Given the description of an element on the screen output the (x, y) to click on. 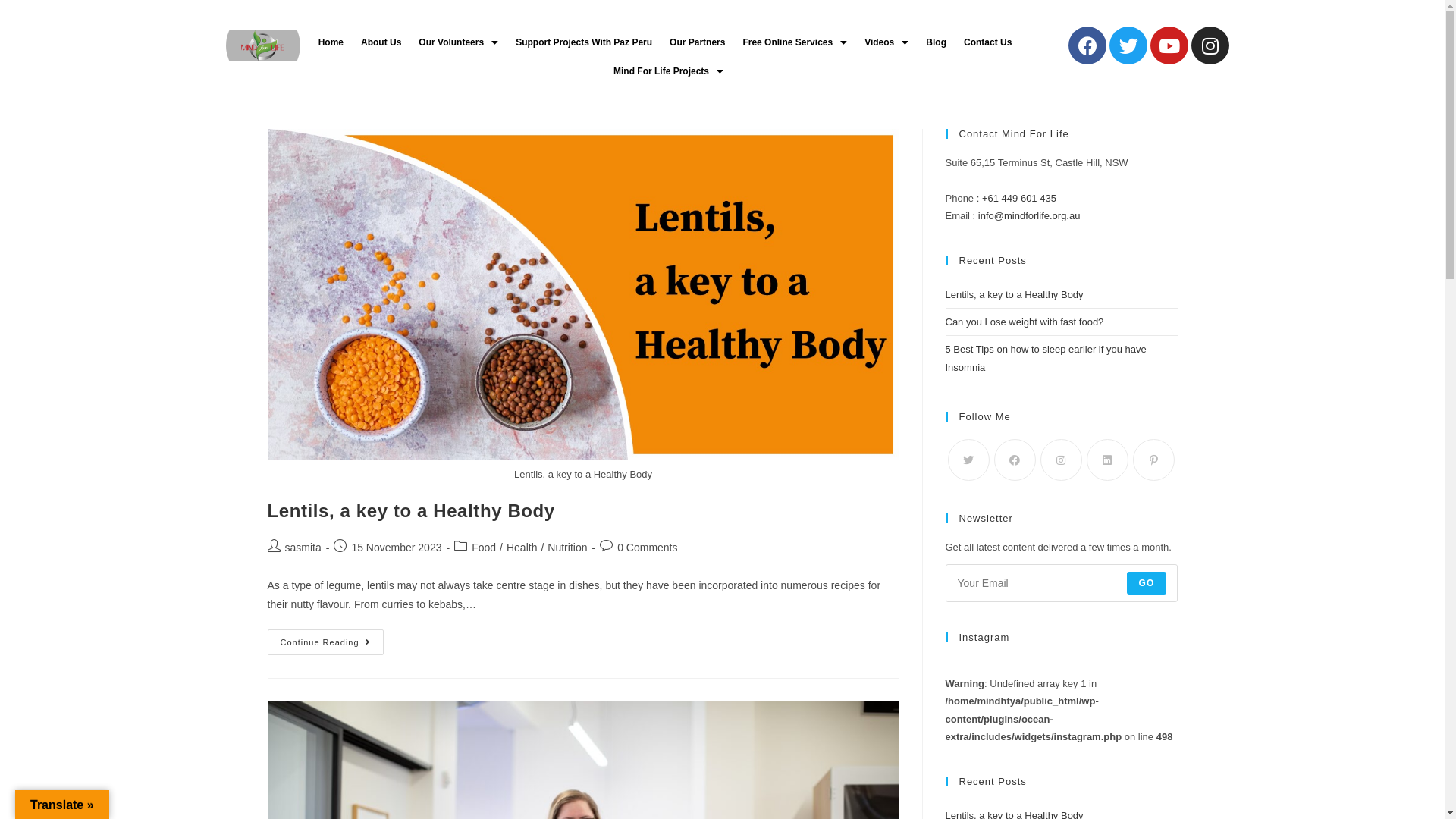
Free Online Services Element type: text (794, 42)
Food Element type: text (483, 547)
Home Element type: text (330, 42)
GO Element type: text (1145, 582)
Lentils, a key to a Healthy Body Element type: text (410, 510)
Support Projects With Paz Peru Element type: text (583, 42)
Our Volunteers Element type: text (458, 42)
Contact Us Element type: text (987, 42)
Can you Lose weight with fast food? Element type: text (1023, 321)
Blog Element type: text (935, 42)
5 Best Tips on how to sleep earlier if you have Insomnia Element type: text (1044, 357)
Videos Element type: text (886, 42)
Continue Reading Element type: text (324, 642)
About Us Element type: text (380, 42)
0 Comments Element type: text (647, 547)
+61 449 601 435 Element type: text (1019, 197)
Lentils, a key to a Healthy Body Element type: text (1013, 294)
Our Partners Element type: text (697, 42)
info@mindforlife.org.au Element type: text (1029, 215)
Mind For Life Projects Element type: text (668, 70)
Health Element type: text (521, 547)
Nutrition Element type: text (566, 547)
sasmita Element type: text (303, 547)
